Given the description of an element on the screen output the (x, y) to click on. 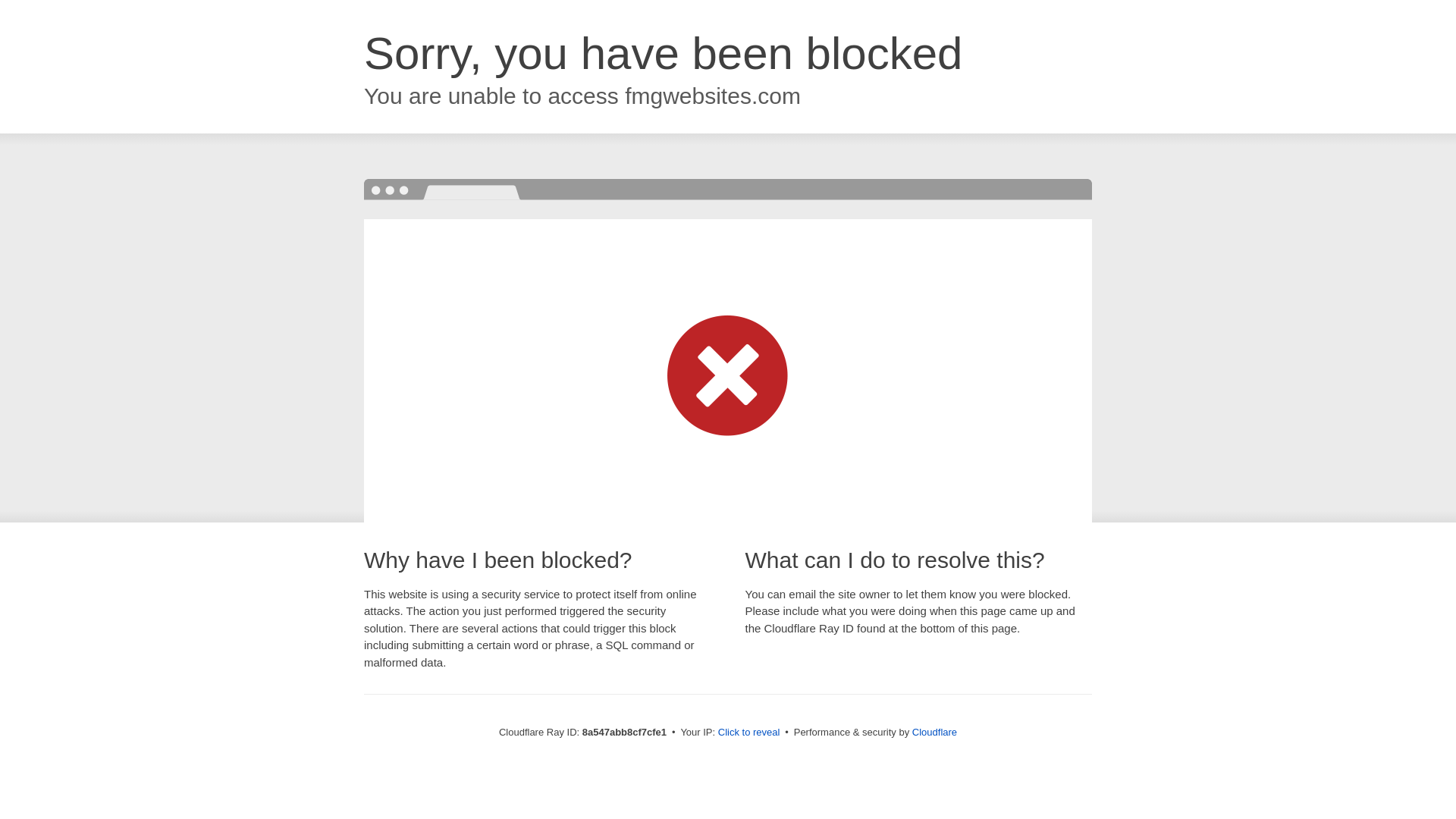
Cloudflare (934, 731)
Click to reveal (748, 732)
